Given the description of an element on the screen output the (x, y) to click on. 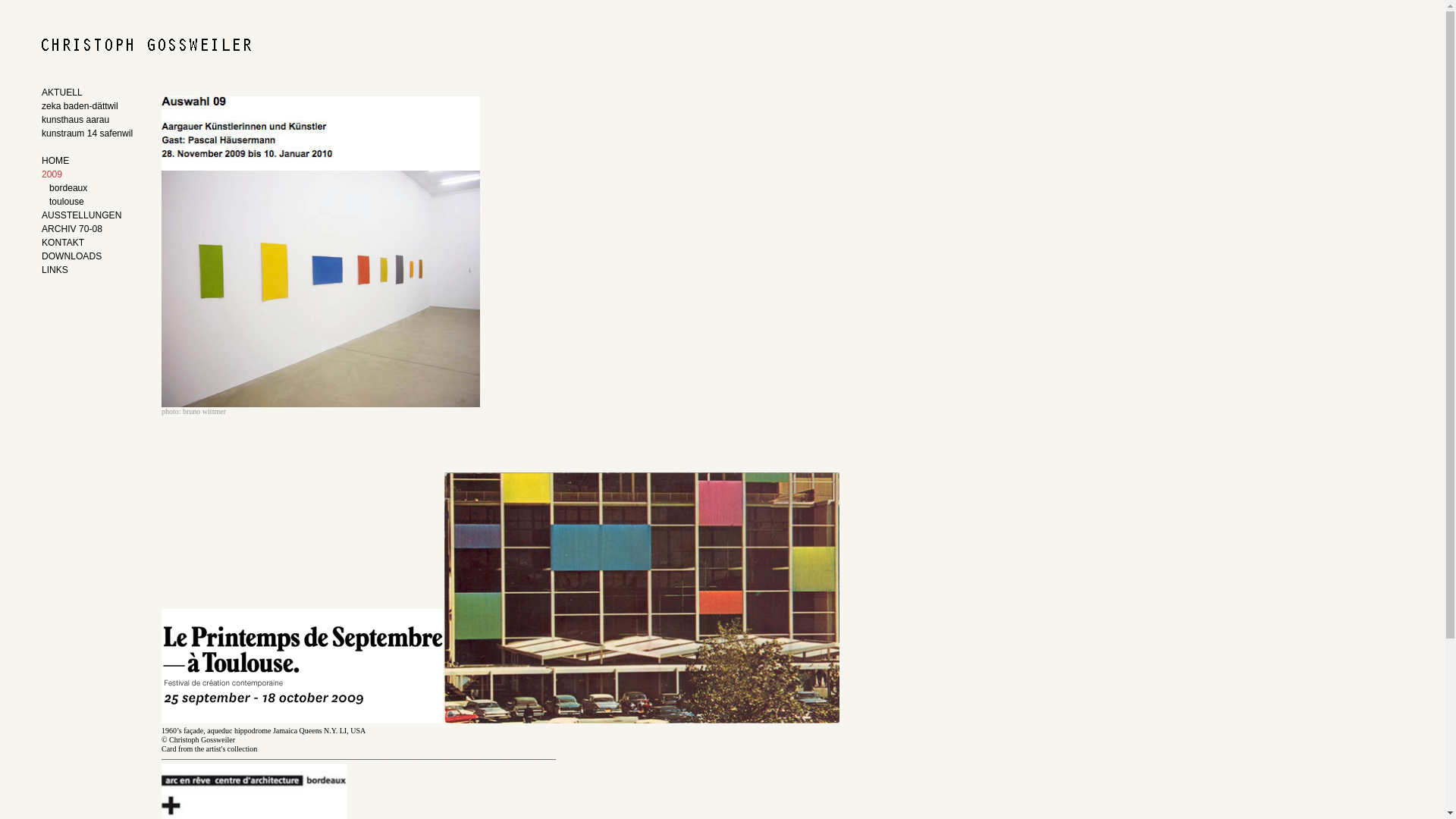
bordeaux Element type: text (92, 189)
kunstraum 14 safenwil Element type: text (88, 134)
toulouse Element type: text (92, 203)
DOWNLOADS Element type: text (79, 257)
KONTAKT Element type: text (79, 244)
kunsthaus aarau Element type: text (88, 121)
AKTUELL Element type: text (88, 93)
AUSSTELLUNGEN Element type: text (79, 216)
2009 Element type: text (79, 175)
HOME Element type: text (88, 162)
ARCHIV 70-08 Element type: text (79, 230)
LINKS Element type: text (79, 271)
